Given the description of an element on the screen output the (x, y) to click on. 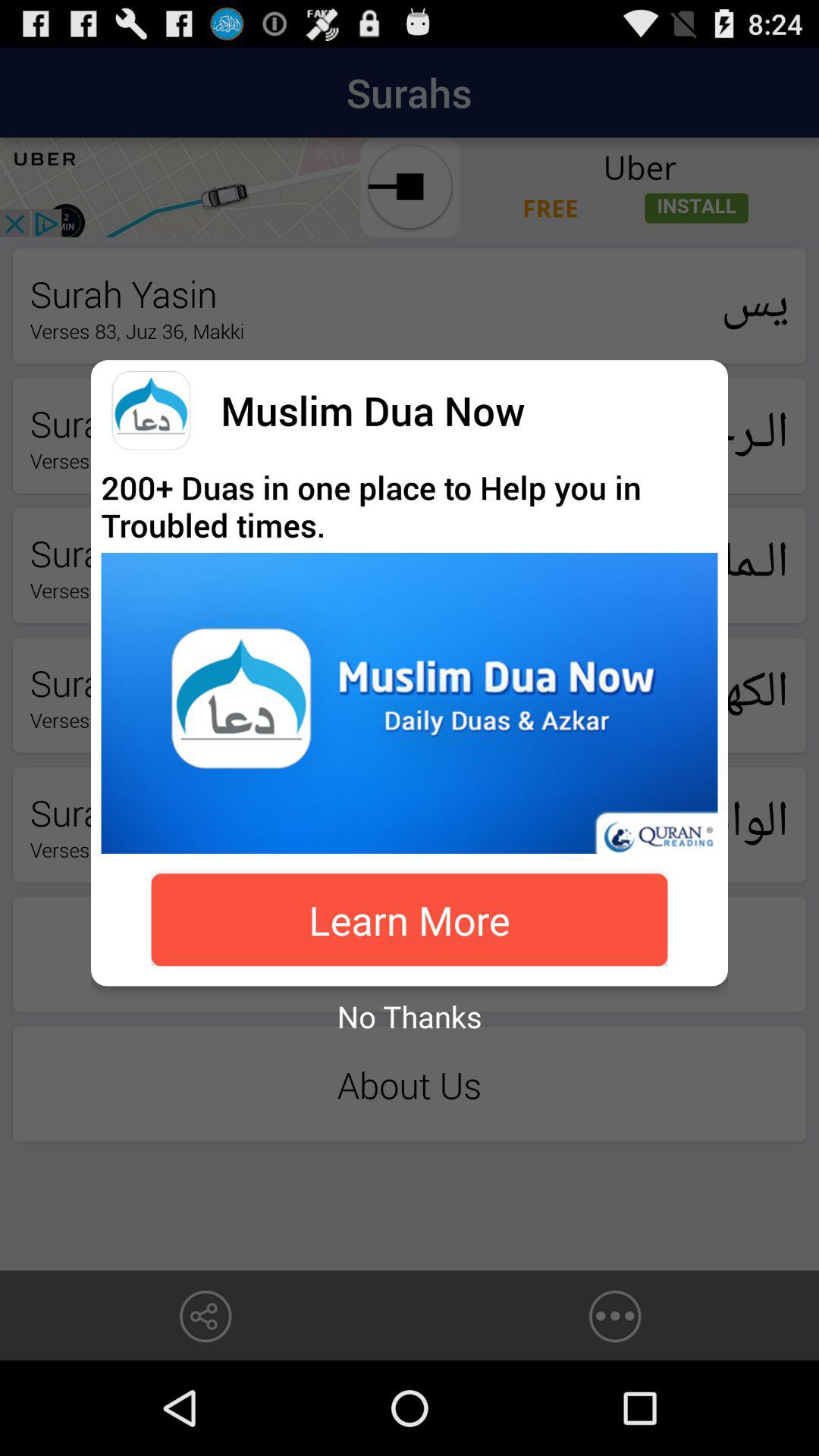
open the icon above the no thanks item (409, 919)
